Given the description of an element on the screen output the (x, y) to click on. 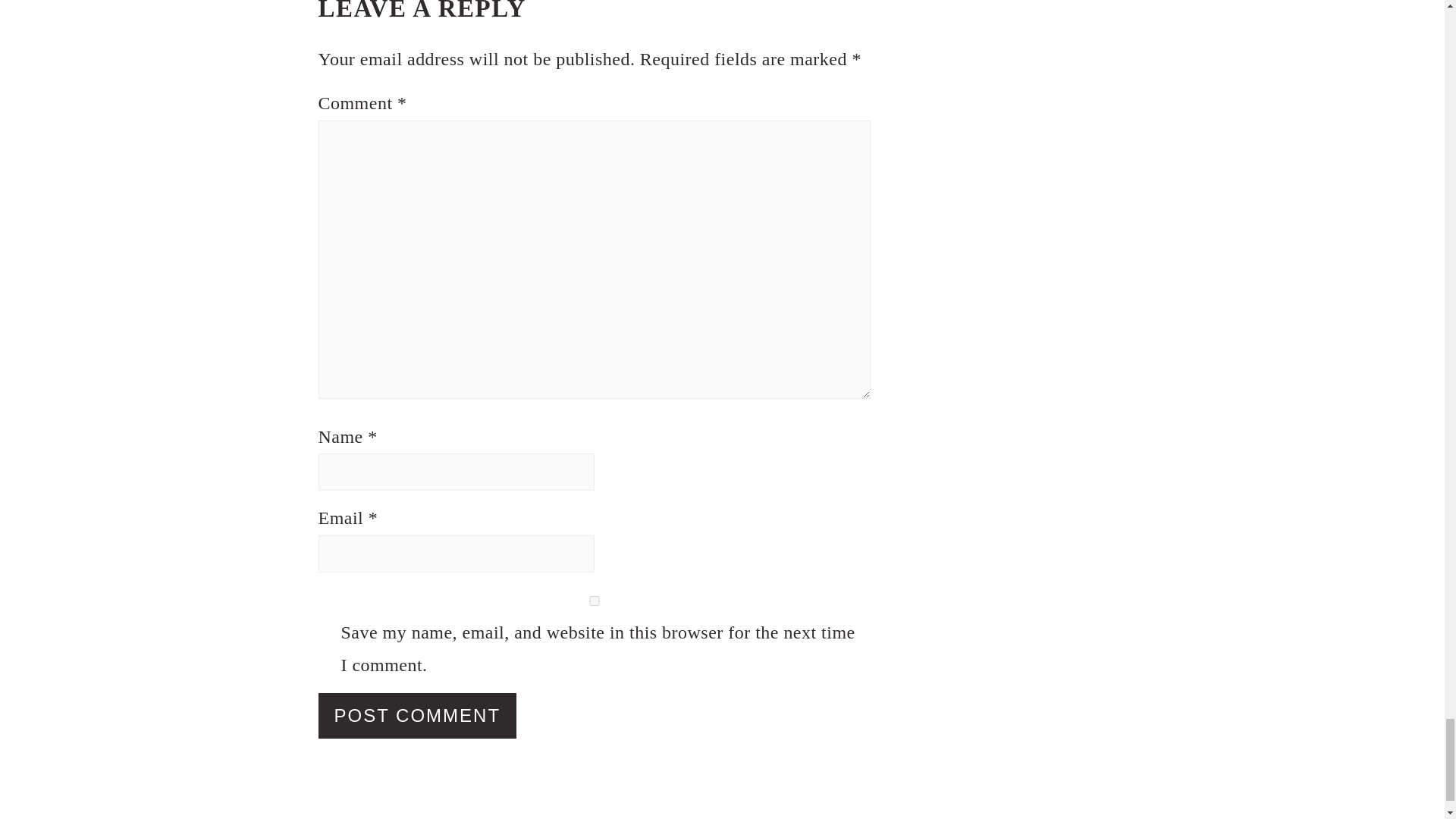
Post Comment (417, 715)
yes (594, 601)
